Given the description of an element on the screen output the (x, y) to click on. 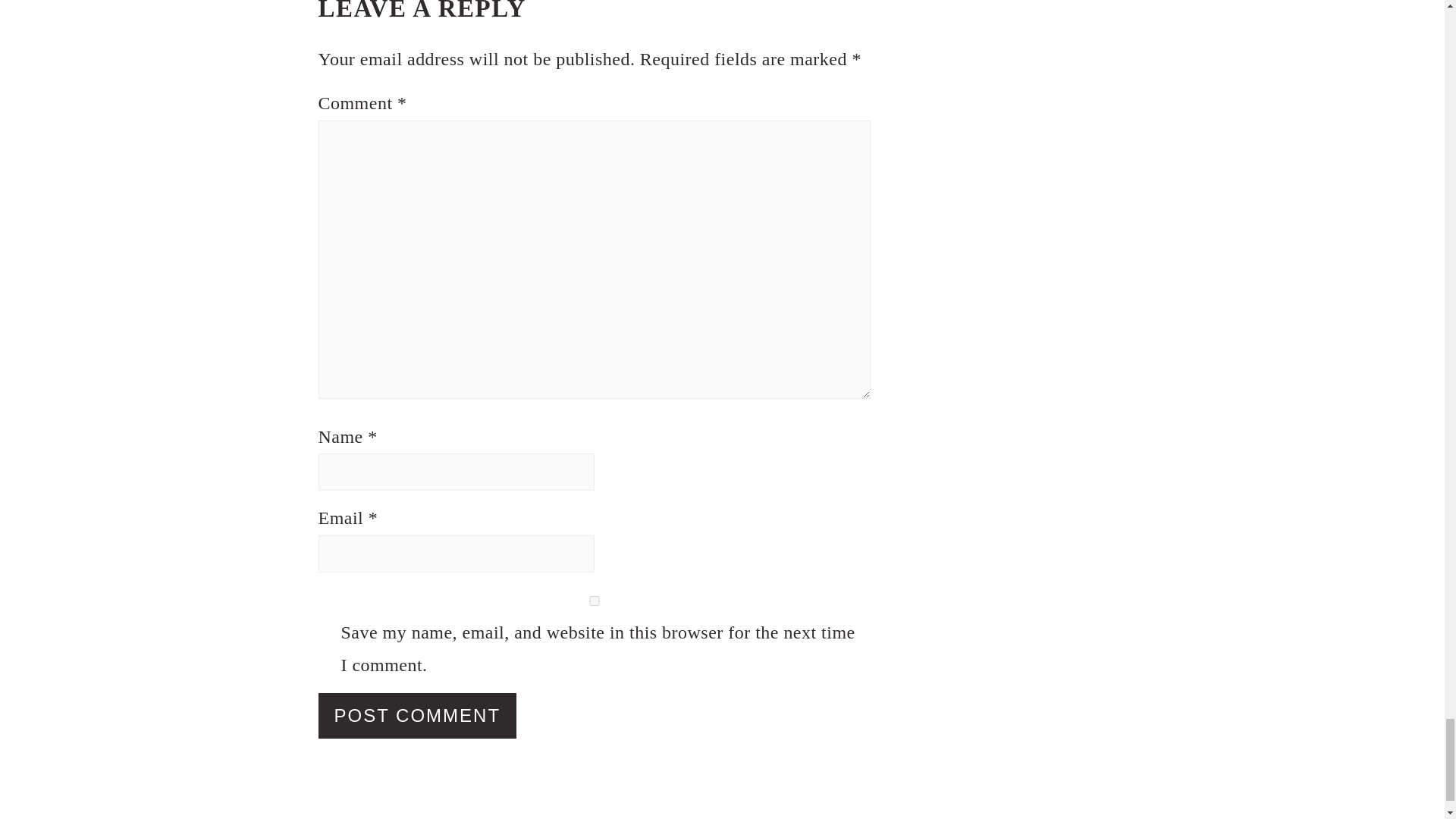
Post Comment (417, 715)
yes (594, 601)
